Given the description of an element on the screen output the (x, y) to click on. 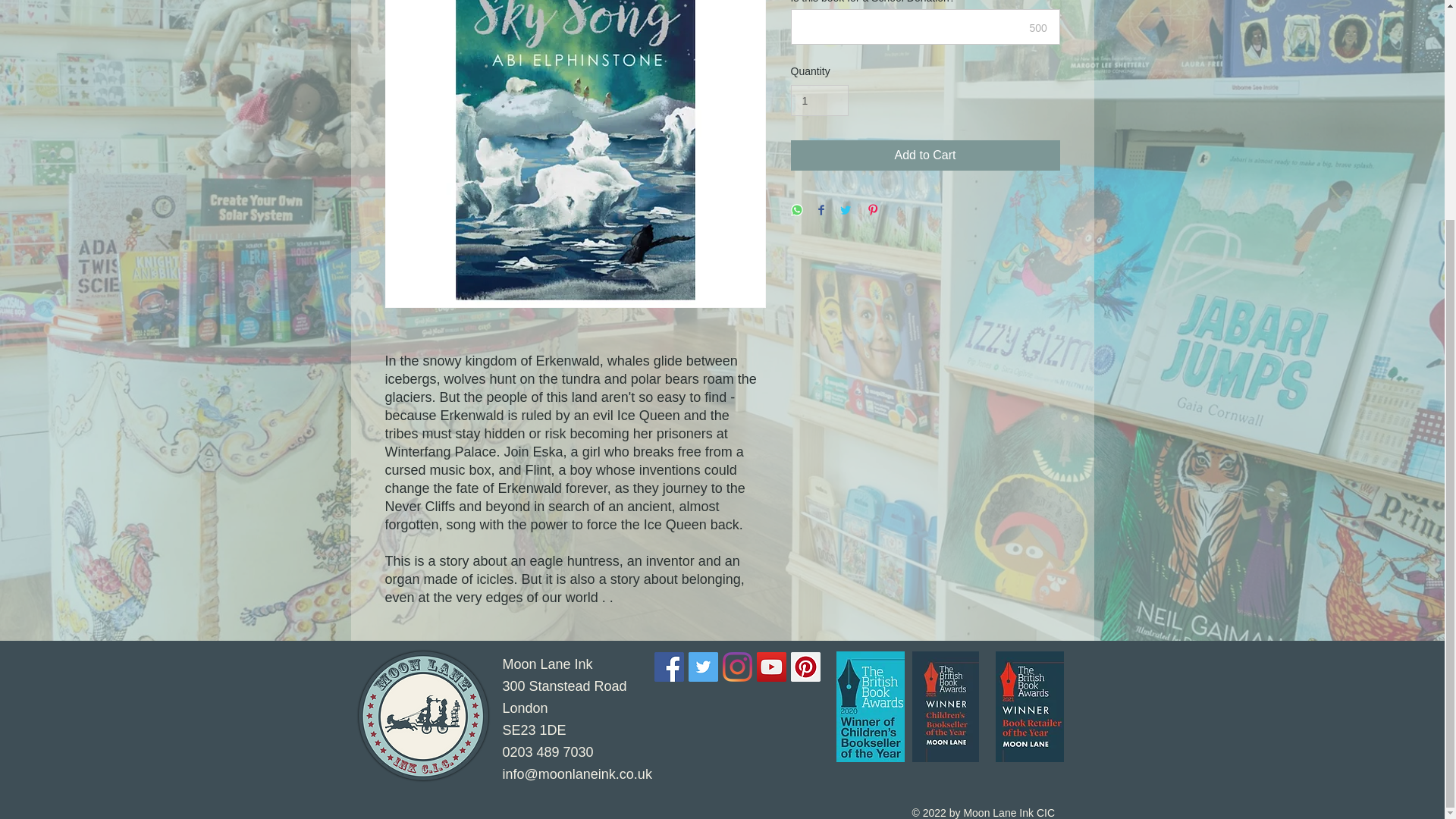
1 (564, 696)
Add to Cart (818, 100)
